Given the description of an element on the screen output the (x, y) to click on. 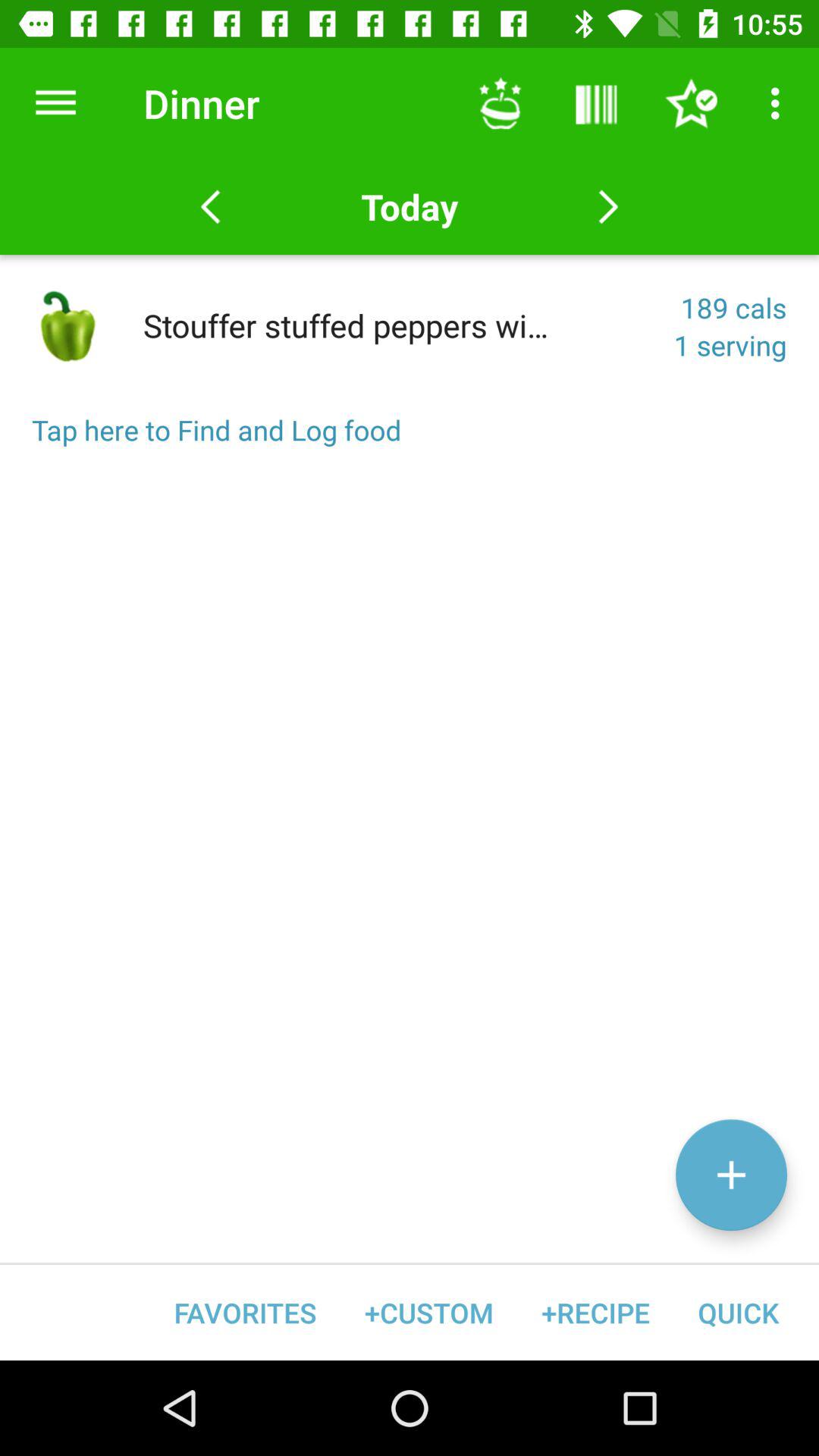
go forward (608, 206)
